Given the description of an element on the screen output the (x, y) to click on. 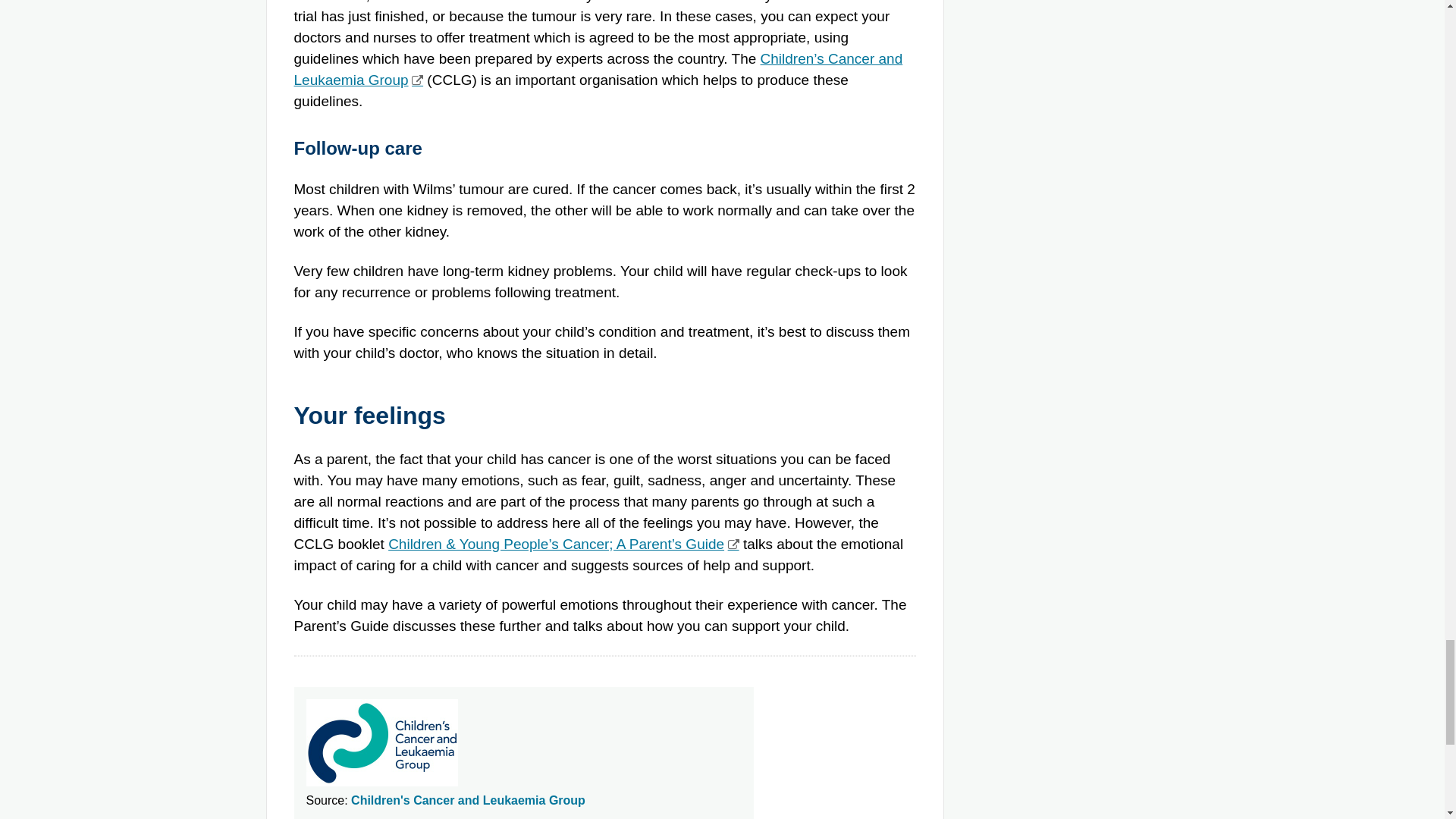
CCLG (598, 68)
CCLG (563, 544)
Children's Cancer and Leukaemia Group (467, 799)
